Given the description of an element on the screen output the (x, y) to click on. 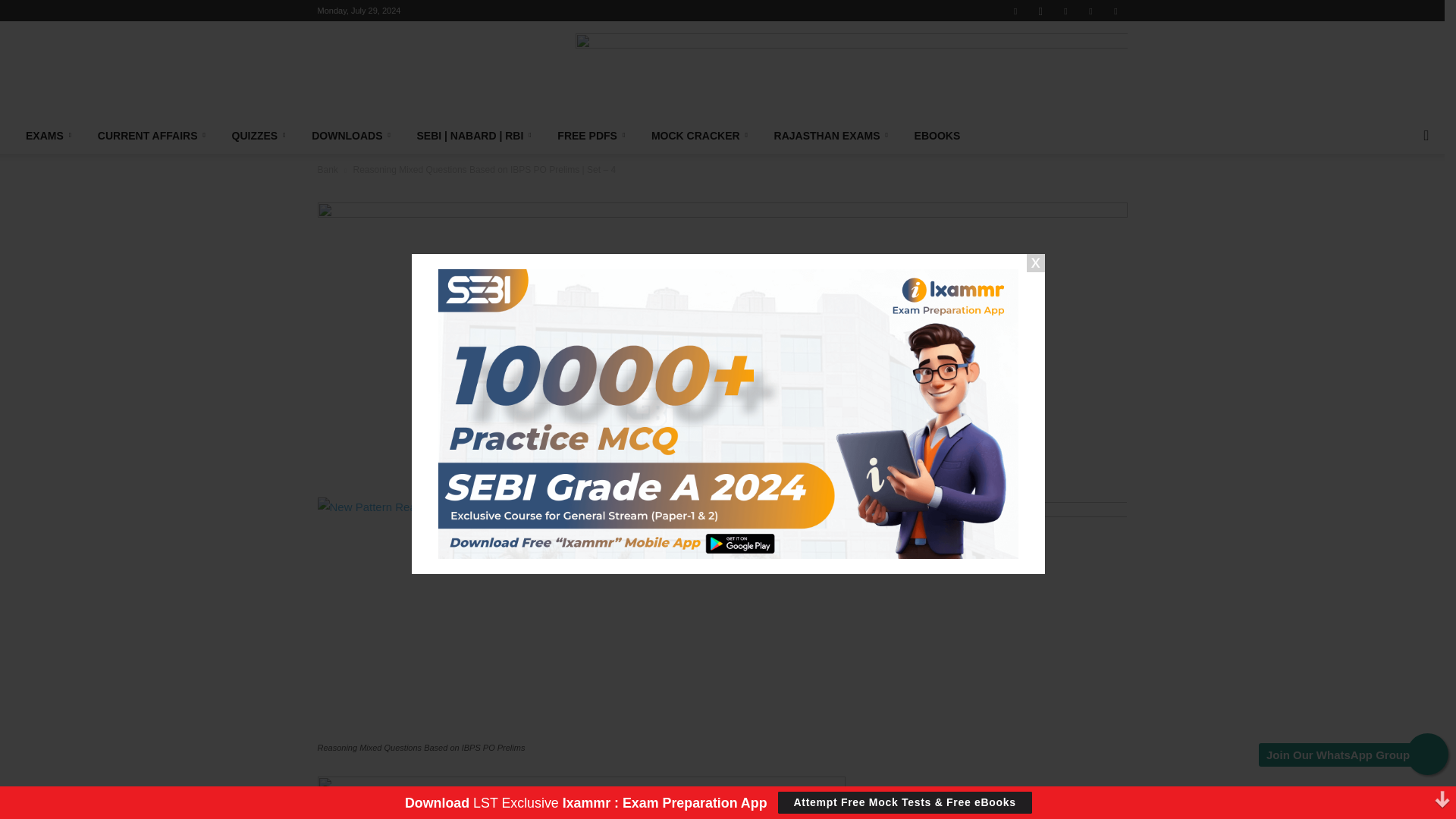
Youtube (1114, 10)
Instagram (1040, 10)
View all posts in Bank (327, 169)
Telegram (1065, 10)
Twitter (1090, 10)
Facebook (1015, 10)
